Given the description of an element on the screen output the (x, y) to click on. 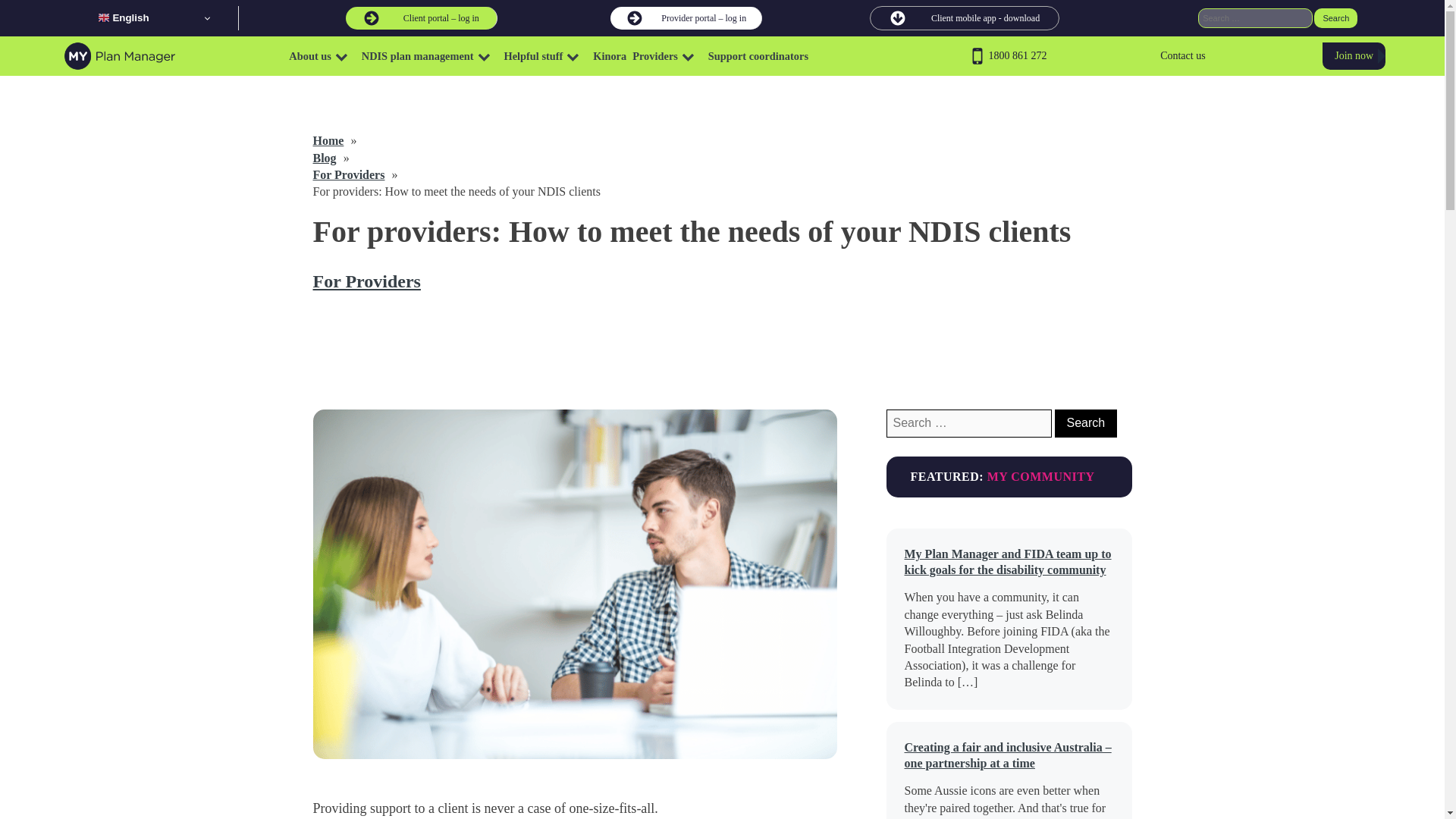
Search (1335, 17)
English (154, 18)
Kinora (608, 56)
Search (1335, 17)
Providers (666, 56)
Search (1335, 17)
Search (1085, 422)
Search (1085, 422)
About us (321, 56)
Helpful stuff (544, 56)
